Given the description of an element on the screen output the (x, y) to click on. 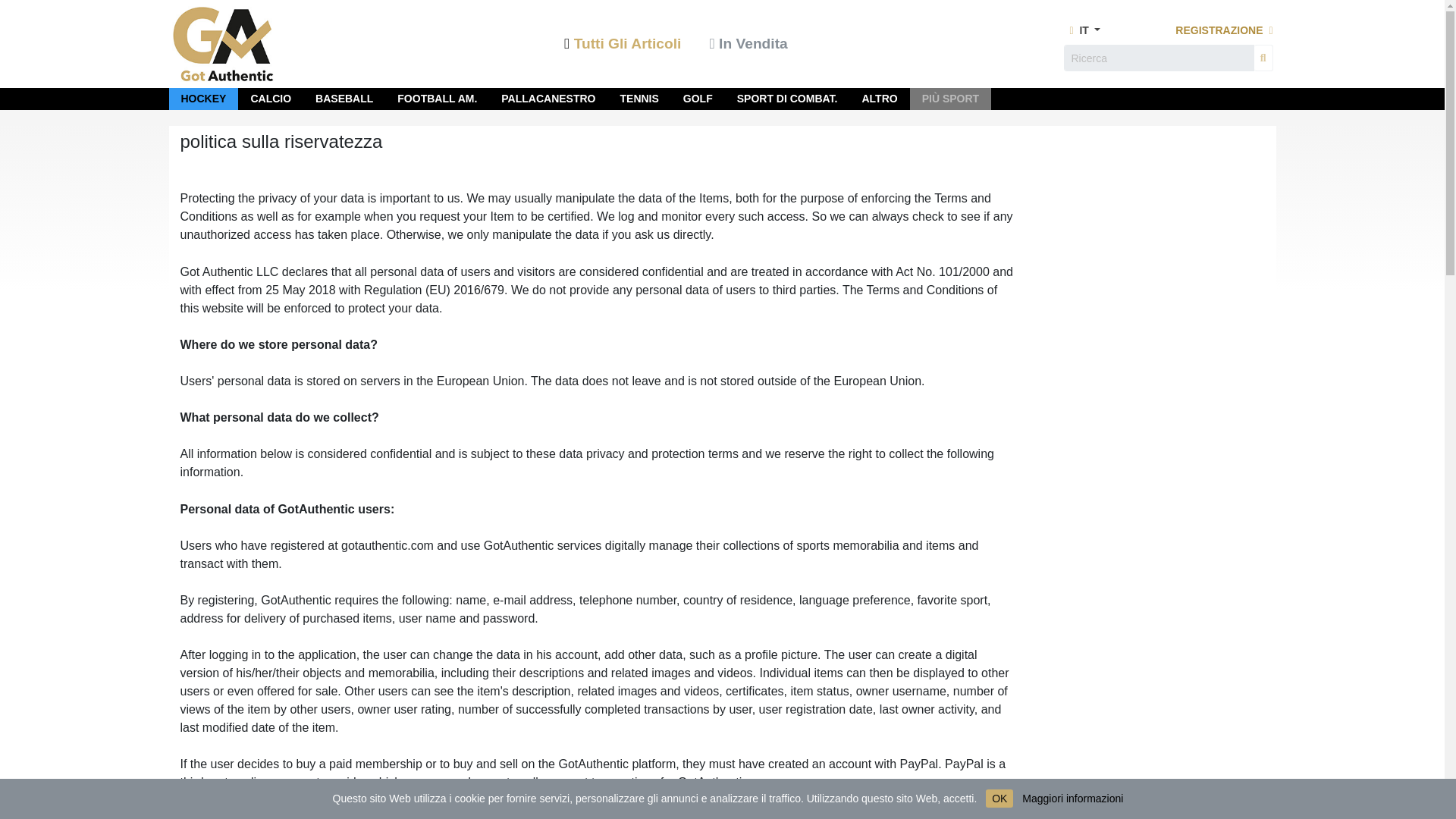
REGISTRAZIONE (1223, 30)
  IT (1081, 30)
TENNIS (639, 98)
ALTRO (878, 98)
HOCKEY (202, 98)
Tutti Gli Articoli (624, 45)
Registrazione (1223, 30)
CALCIO (270, 98)
SPORT DI COMBAT. (787, 98)
In Vendita (748, 45)
